Given the description of an element on the screen output the (x, y) to click on. 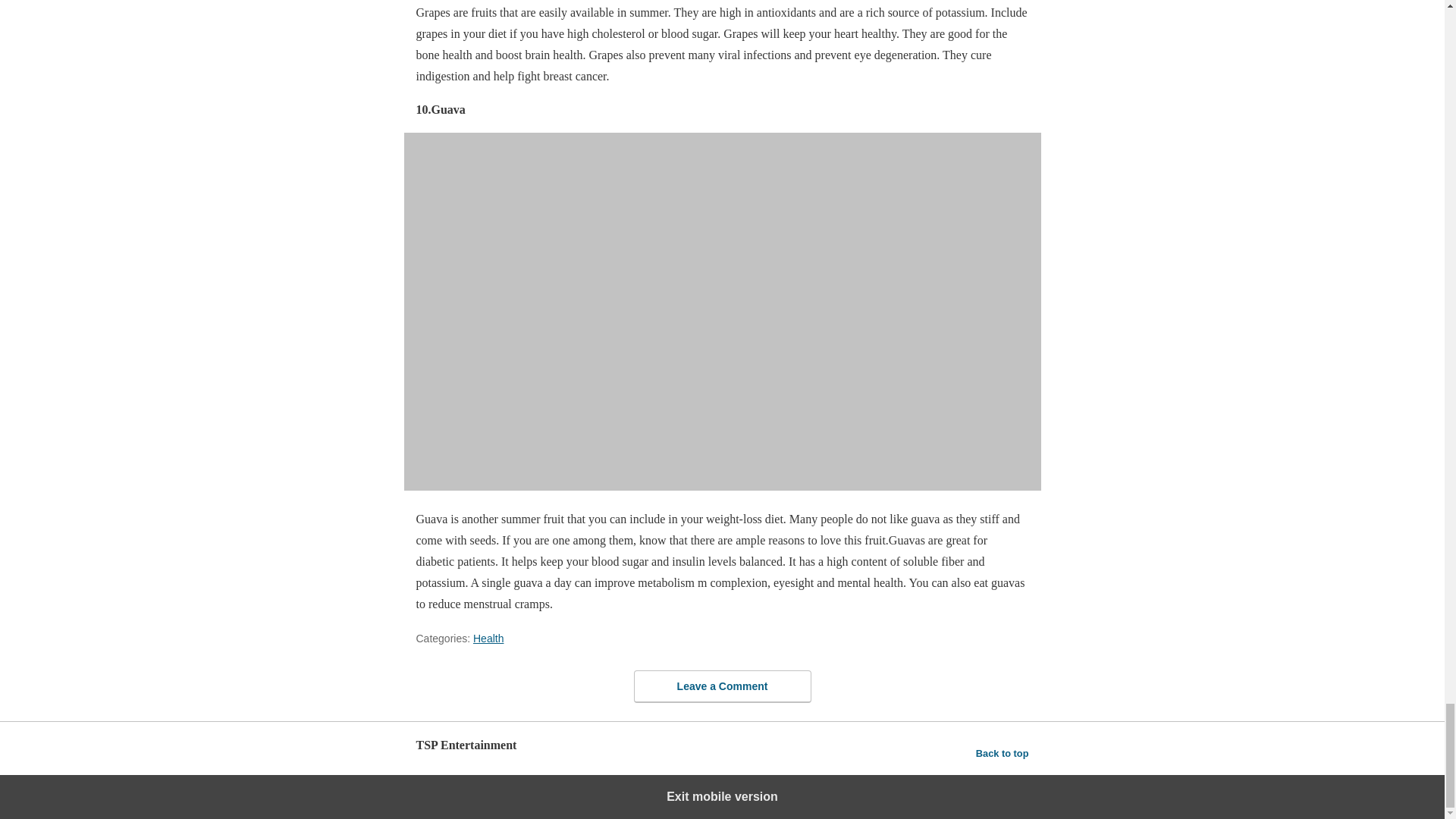
Leave a Comment (721, 686)
Health (488, 638)
Back to top (1002, 752)
